Given the description of an element on the screen output the (x, y) to click on. 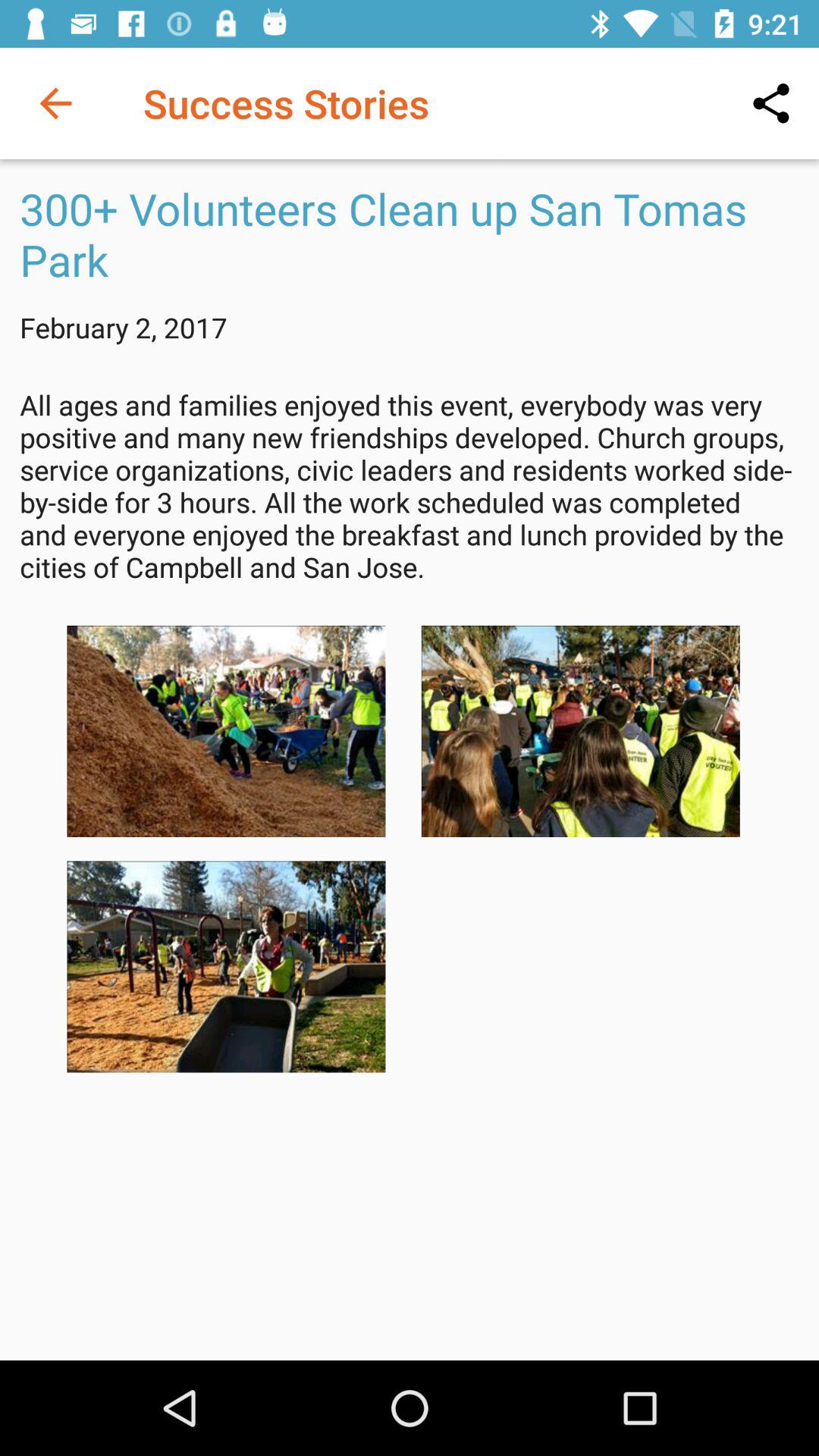
tap icon next to the success stories item (55, 103)
